Given the description of an element on the screen output the (x, y) to click on. 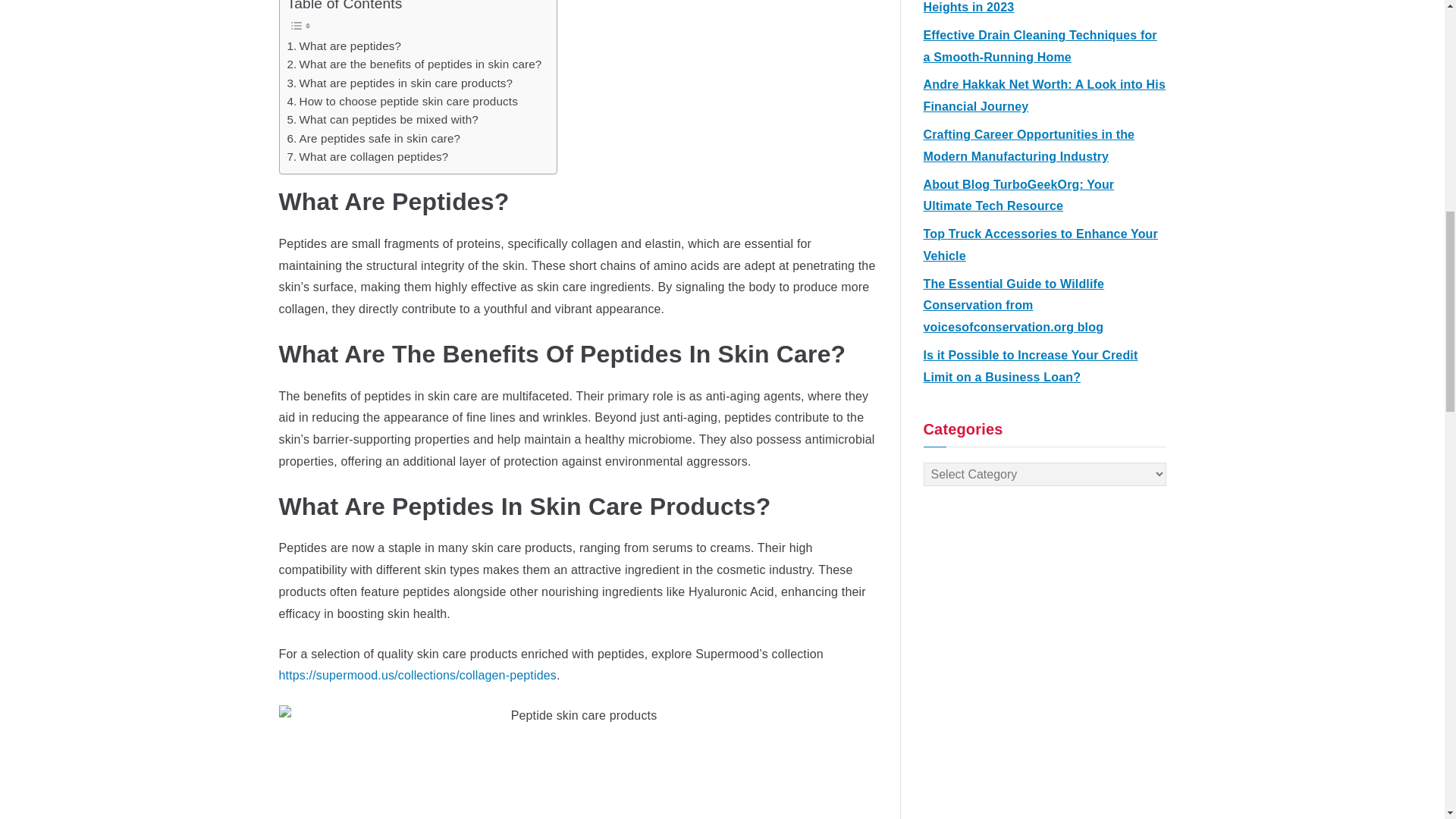
What are peptides? (343, 45)
How to choose peptide skin care products (401, 101)
What are collagen peptides? (367, 157)
Are peptides safe in skin care? (373, 138)
What are peptides in skin care products? (399, 83)
What are the benefits of peptides in skin care? (413, 64)
What can peptides be mixed with? (381, 119)
